Given the description of an element on the screen output the (x, y) to click on. 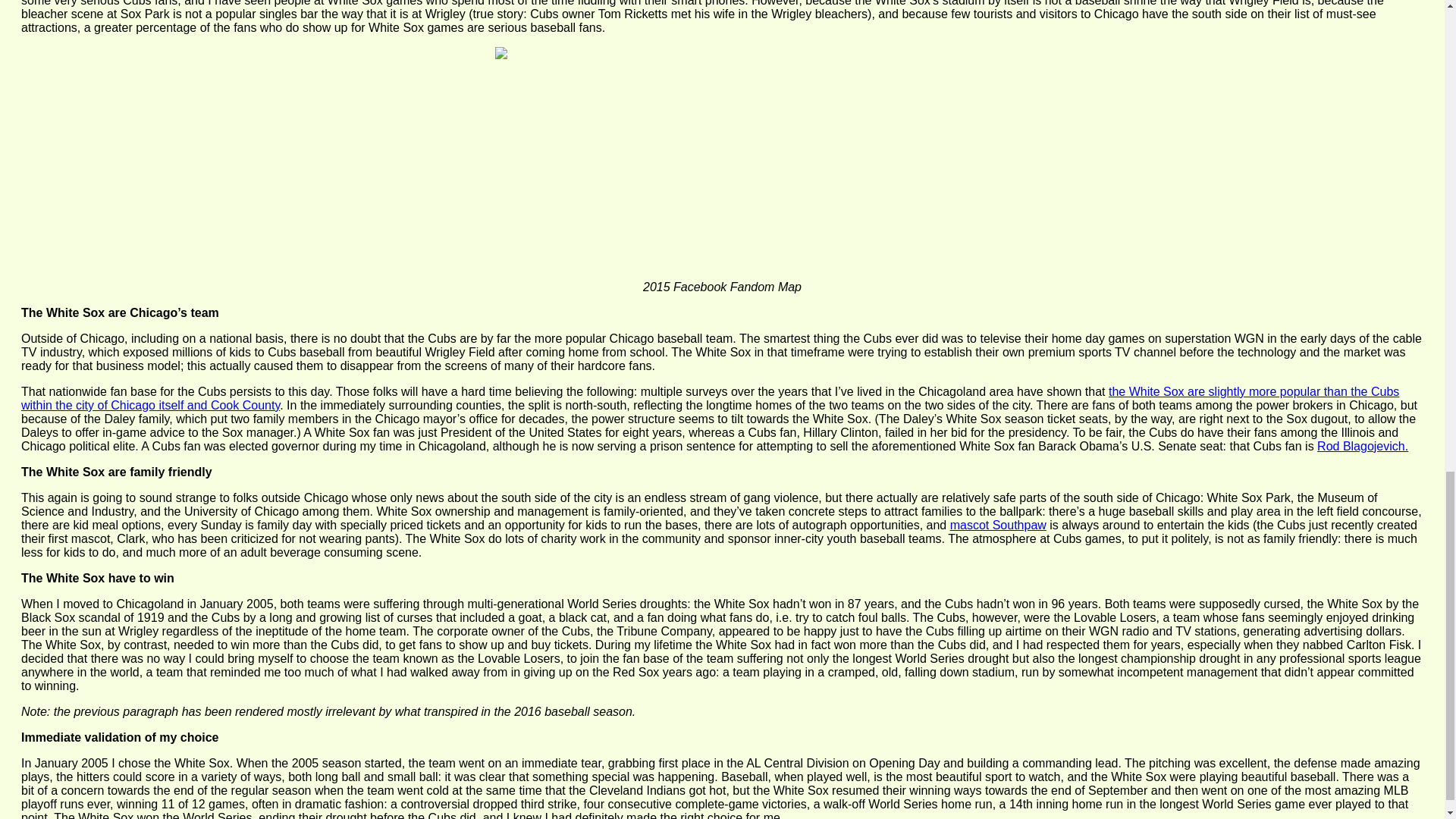
mascot Southpaw (998, 524)
Rod Blagojevich. (1362, 445)
